Given the description of an element on the screen output the (x, y) to click on. 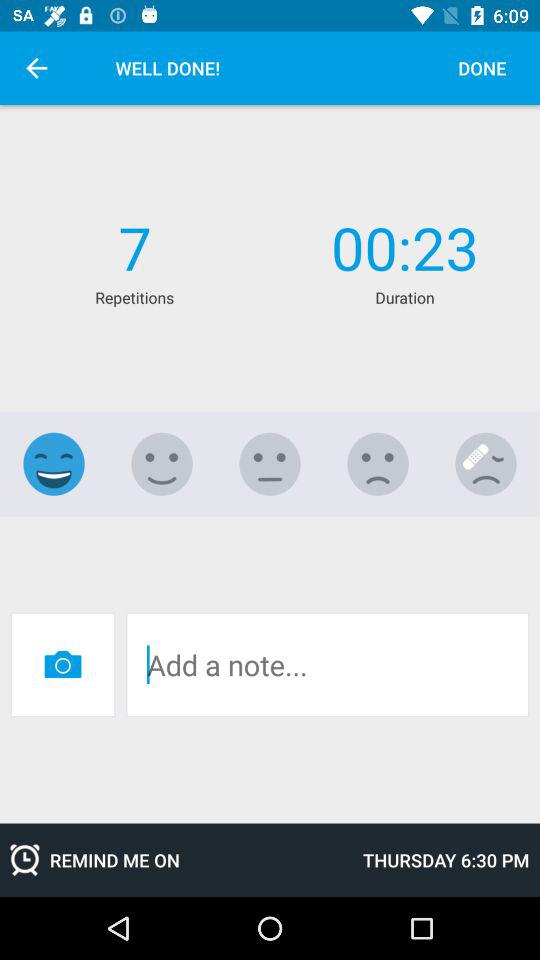
somewhat dislike (378, 463)
